Given the description of an element on the screen output the (x, y) to click on. 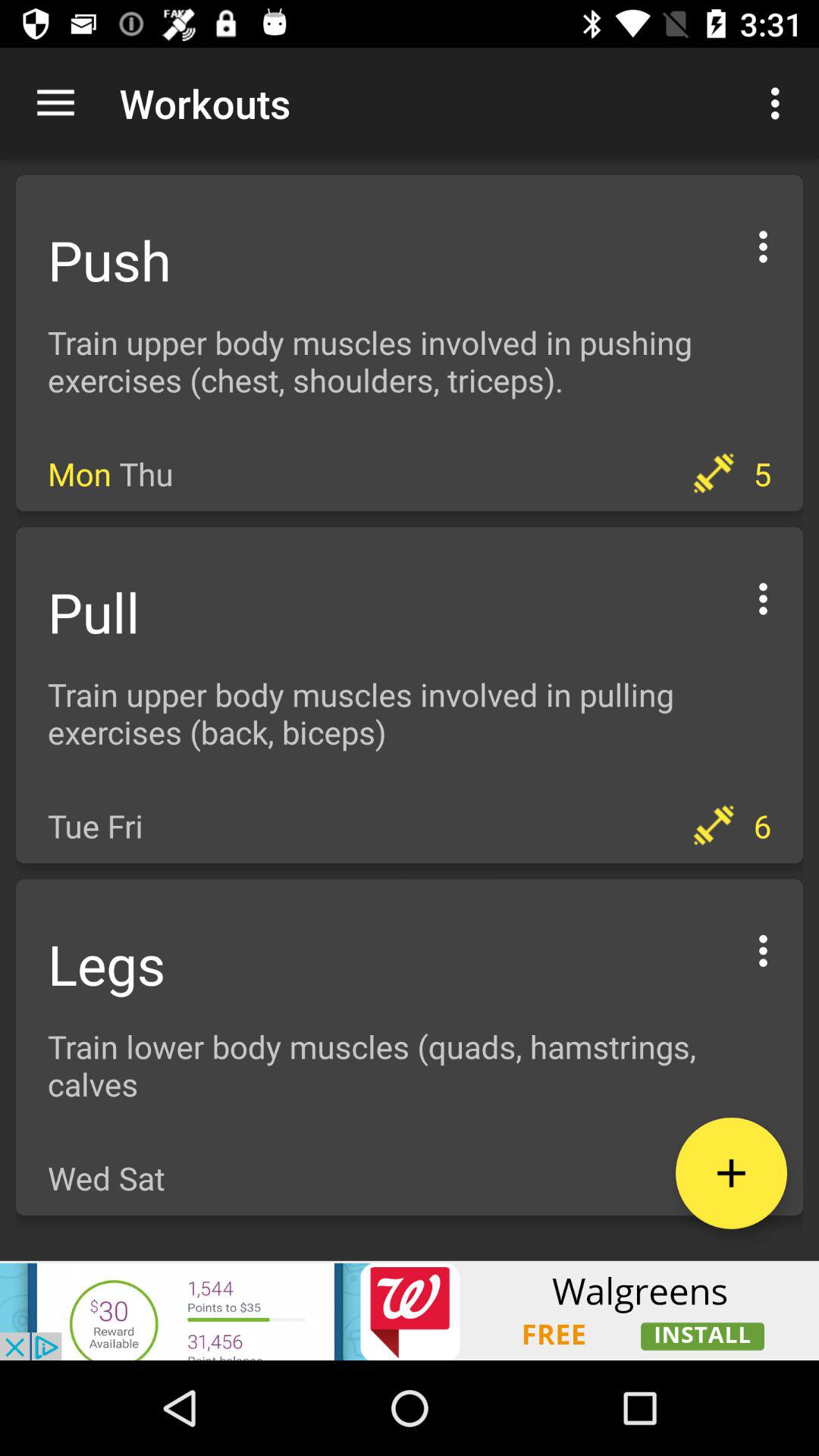
select the complete content from legs to wed sat (409, 1047)
click on dumbbell icon which is on the right side of mon thu (713, 472)
click the first customized options icon which is right side of the workouts (779, 103)
